Given the description of an element on the screen output the (x, y) to click on. 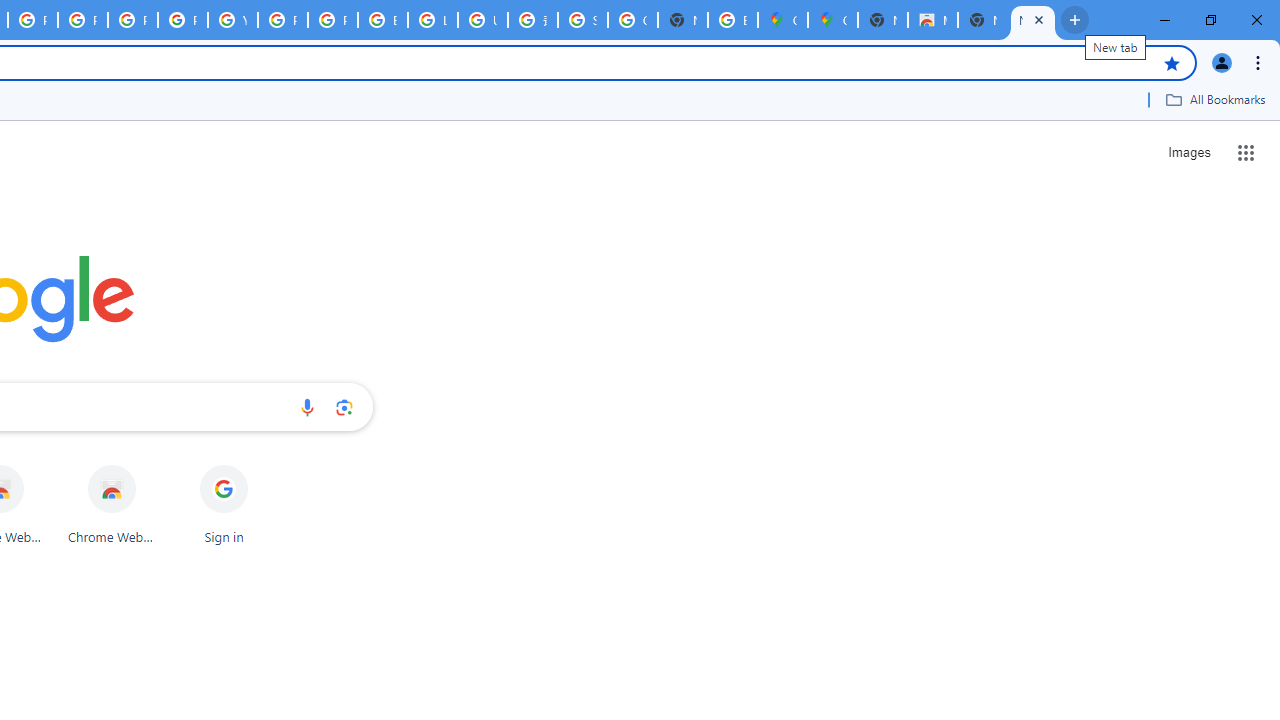
Explore new street-level details - Google Maps Help (732, 20)
Sign in - Google Accounts (582, 20)
